Given the description of an element on the screen output the (x, y) to click on. 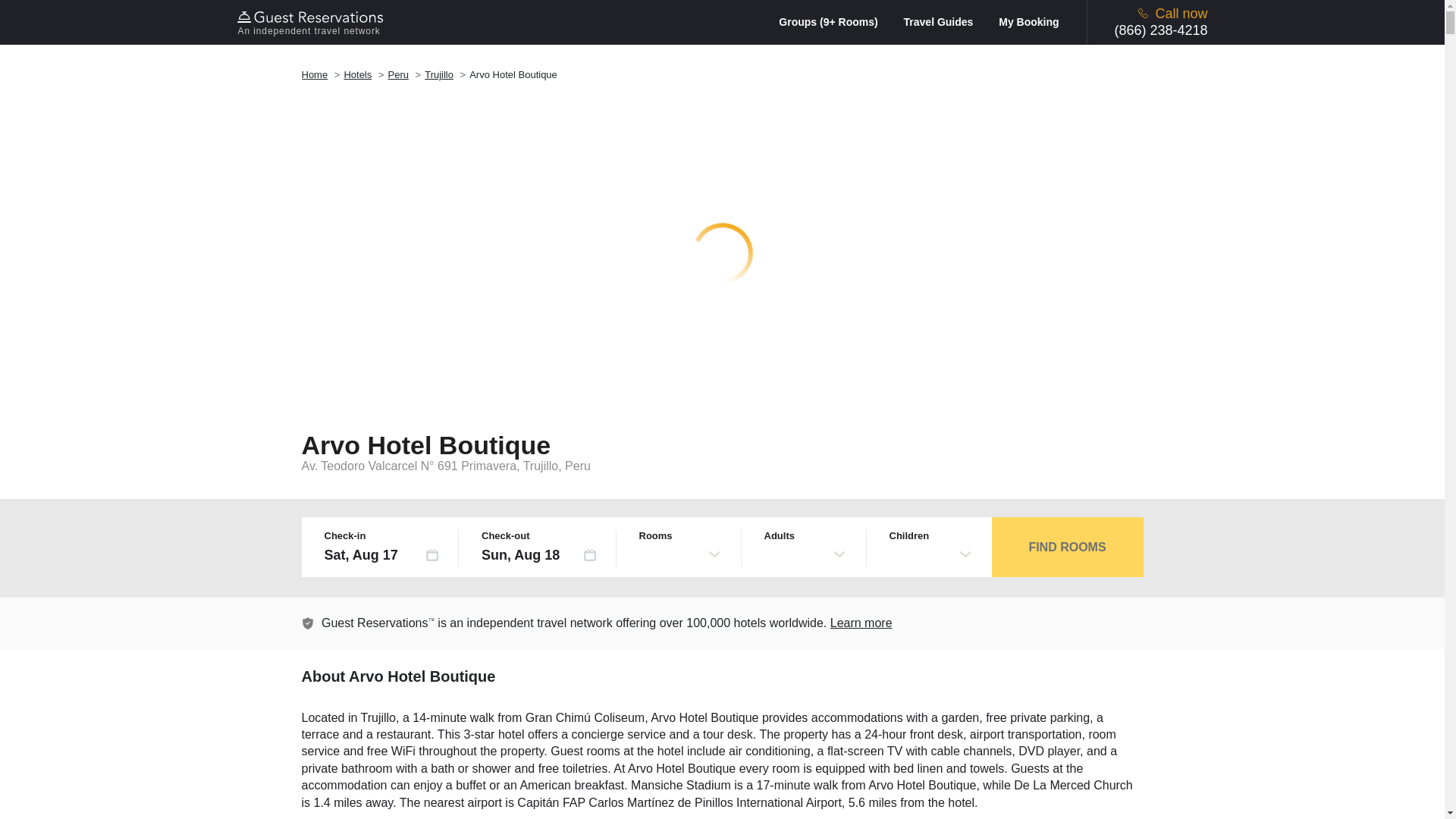
Travel Guides (949, 21)
Hotels (357, 74)
Sun, Aug 18 (538, 554)
Travel Guides (949, 21)
My Booking (1028, 21)
My Booking (1028, 21)
call (1143, 13)
Guest Reservations - Logo (311, 16)
Sat, Aug 17 (381, 554)
Home (315, 74)
